Given the description of an element on the screen output the (x, y) to click on. 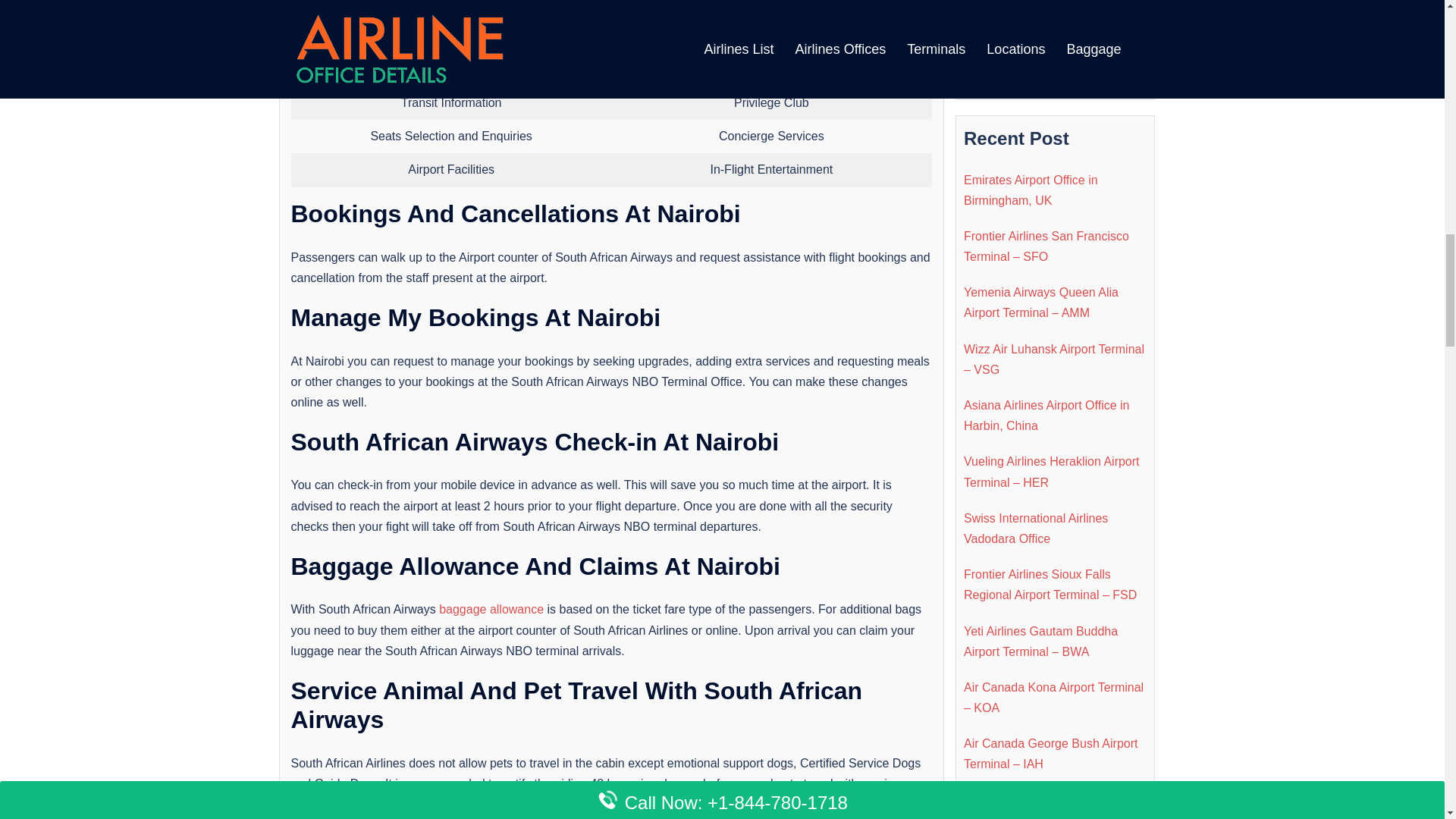
baggage allowance (491, 608)
